Given the description of an element on the screen output the (x, y) to click on. 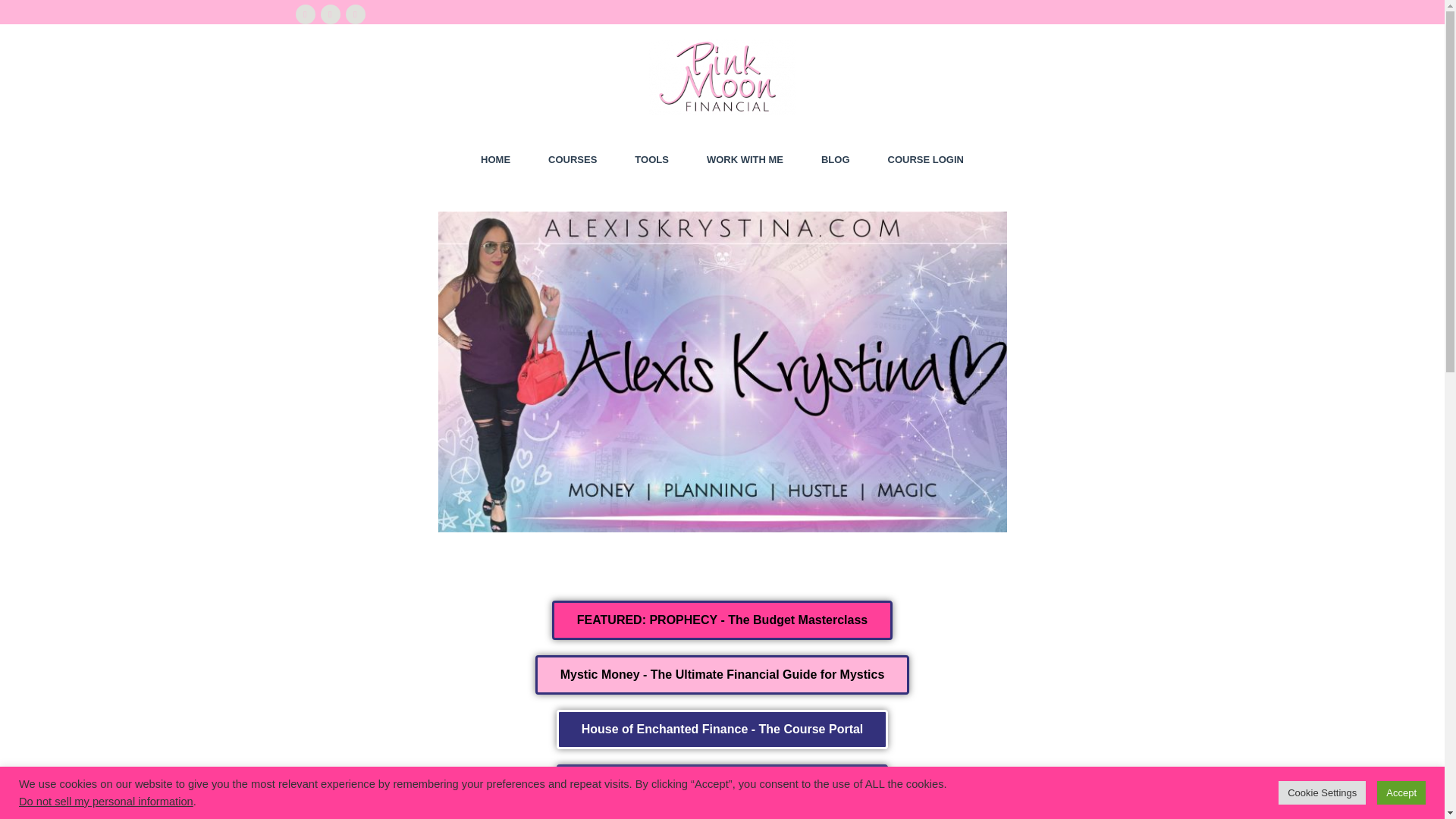
BLOG (835, 159)
Do not sell my personal information (105, 801)
FEATURED: PROPHECY - The Budget Masterclass (721, 619)
Cookie Settings (1321, 792)
TOOLS (651, 159)
COURSE LOGIN (925, 159)
WORK WITH ME (744, 159)
facebook (305, 14)
HOME (495, 159)
twitter (329, 14)
House of Enchanted Finance - The Course Portal (722, 729)
Work With Me: 1:1 Monthly CFO Services Inquiry (721, 783)
COURSES (572, 159)
instagram (355, 14)
Accept (1401, 792)
